Given the description of an element on the screen output the (x, y) to click on. 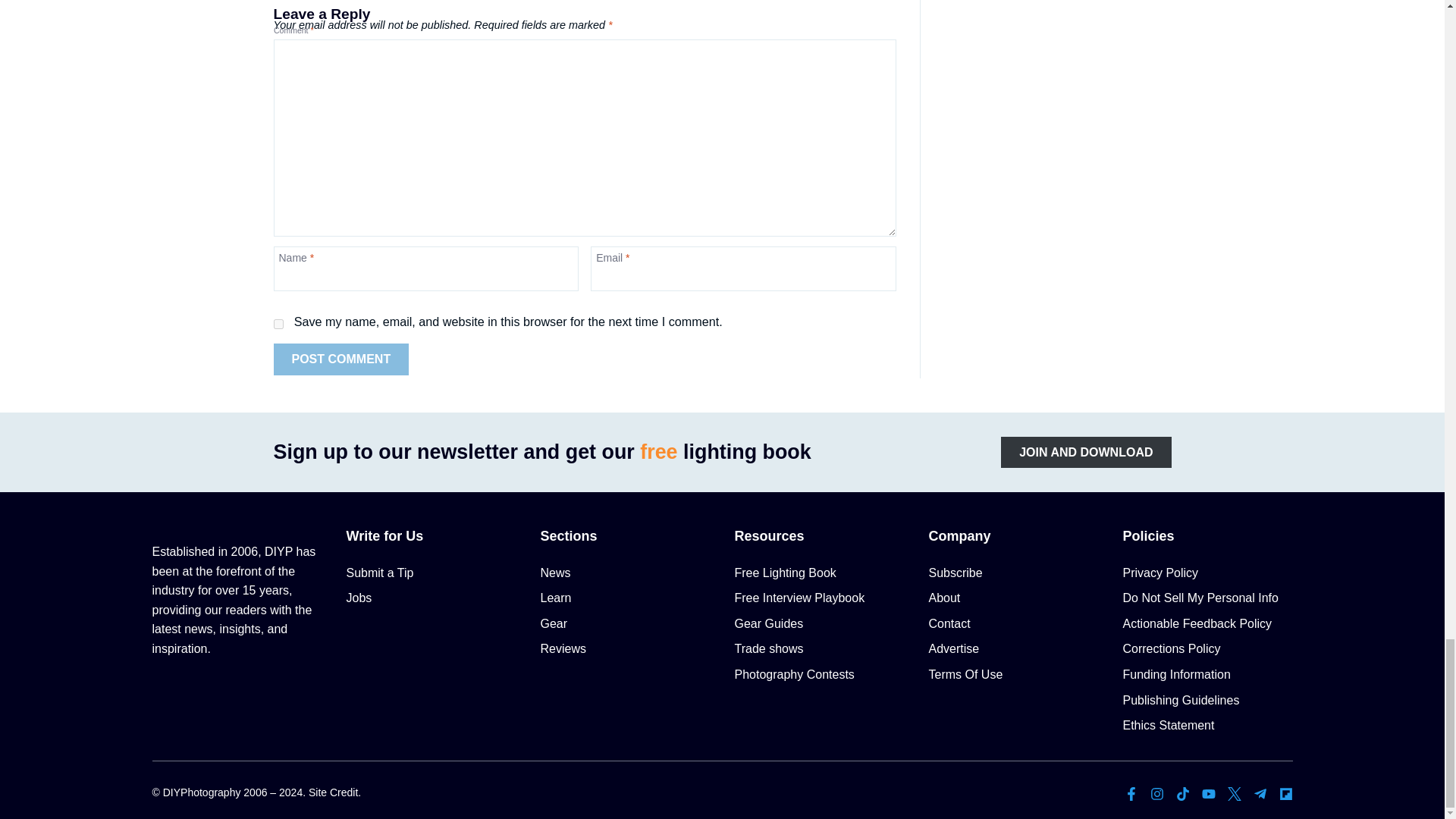
yes (277, 324)
Post Comment (341, 359)
